Given the description of an element on the screen output the (x, y) to click on. 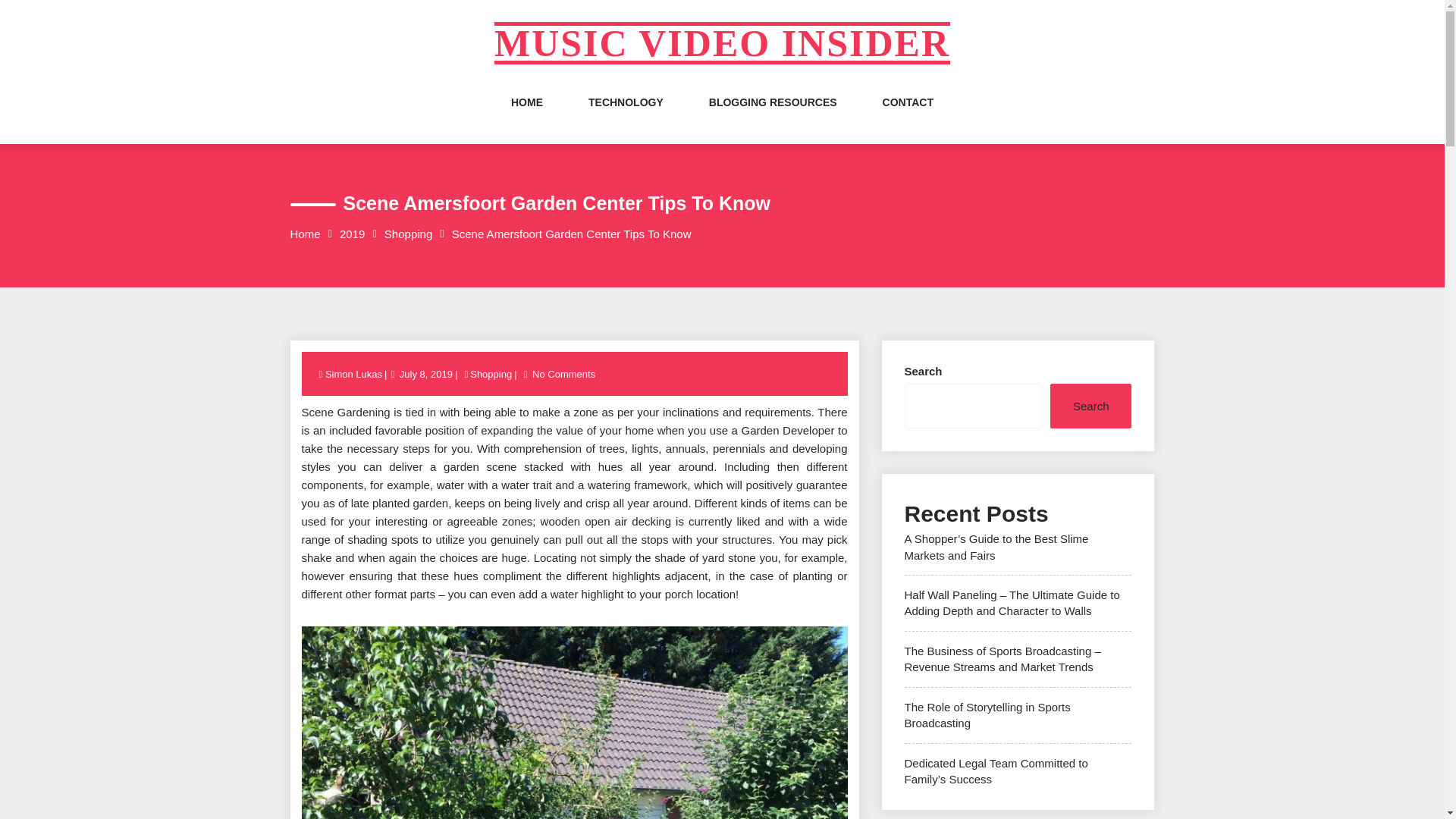
MUSIC VIDEO INSIDER (722, 43)
July 8, 2019 (425, 374)
Search (1090, 406)
No Comments (562, 374)
BLOGGING RESOURCES (773, 117)
Home (304, 233)
Shopping (490, 374)
TECHNOLOGY (625, 117)
Simon Lukas (354, 374)
Shopping (408, 233)
CONTACT (907, 117)
2019 (352, 233)
The Role of Storytelling in Sports Broadcasting (987, 715)
